Given the description of an element on the screen output the (x, y) to click on. 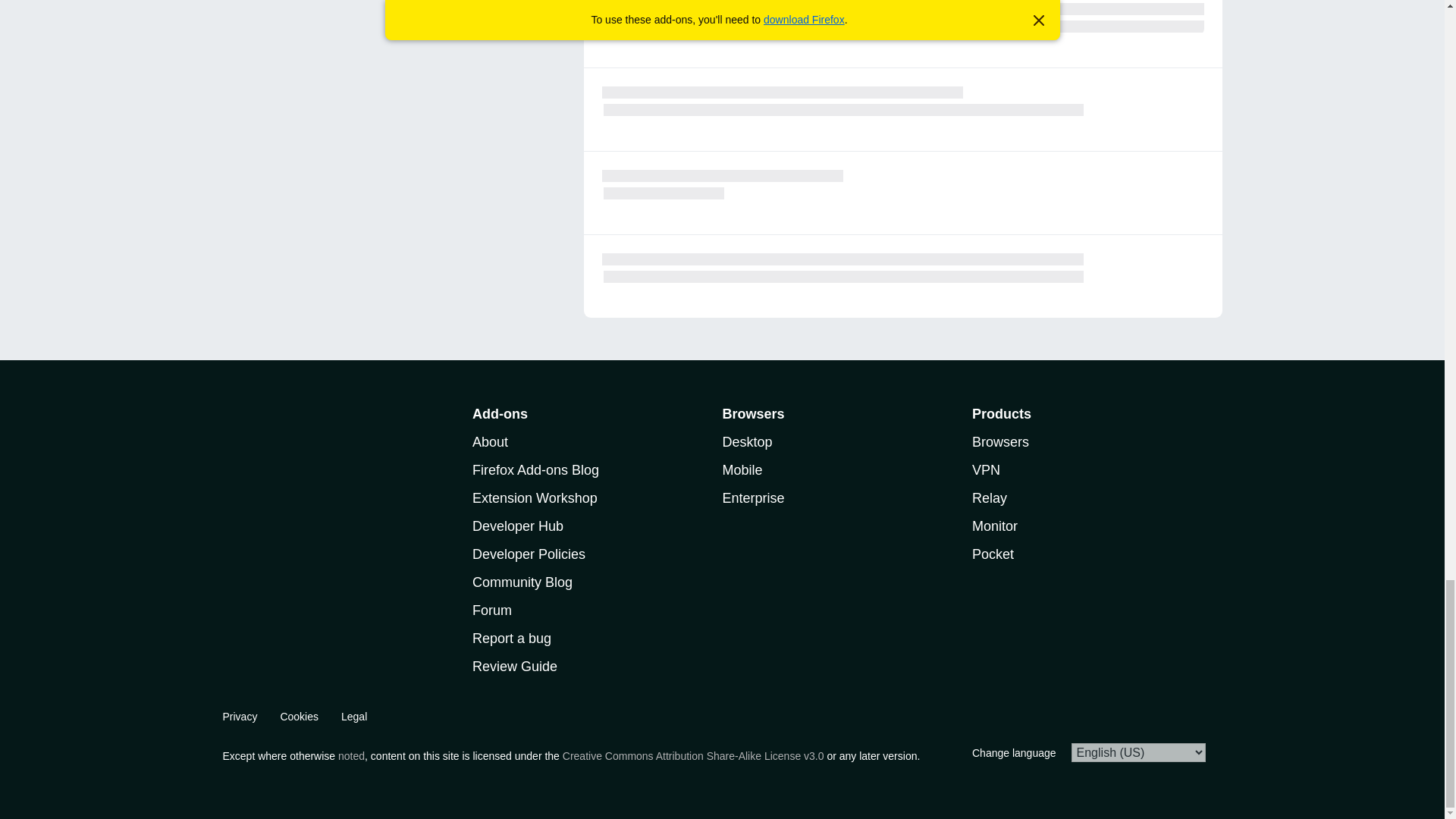
Add-ons (499, 413)
Go to Mozilla's homepage (264, 419)
Enterprise (753, 498)
About (489, 441)
Browsers (1000, 441)
Pocket (992, 554)
Report a bug (511, 638)
Developer Hub (517, 525)
VPN (986, 469)
Developer Policies (528, 554)
Forum (491, 610)
Extension Workshop (533, 498)
Review Guide (514, 666)
Desktop (746, 441)
Monitor (994, 525)
